Given the description of an element on the screen output the (x, y) to click on. 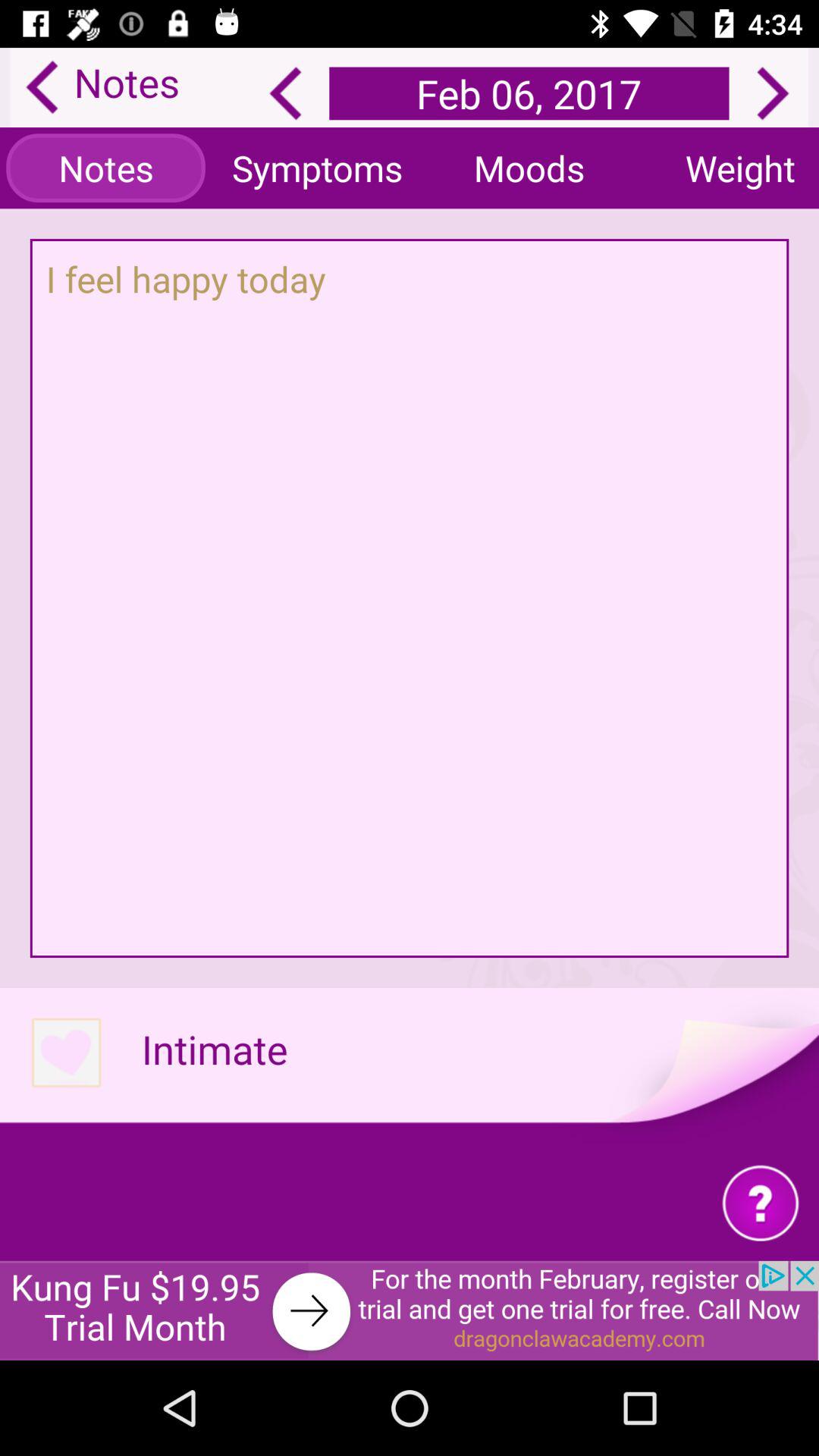
open advert (409, 1310)
